Given the description of an element on the screen output the (x, y) to click on. 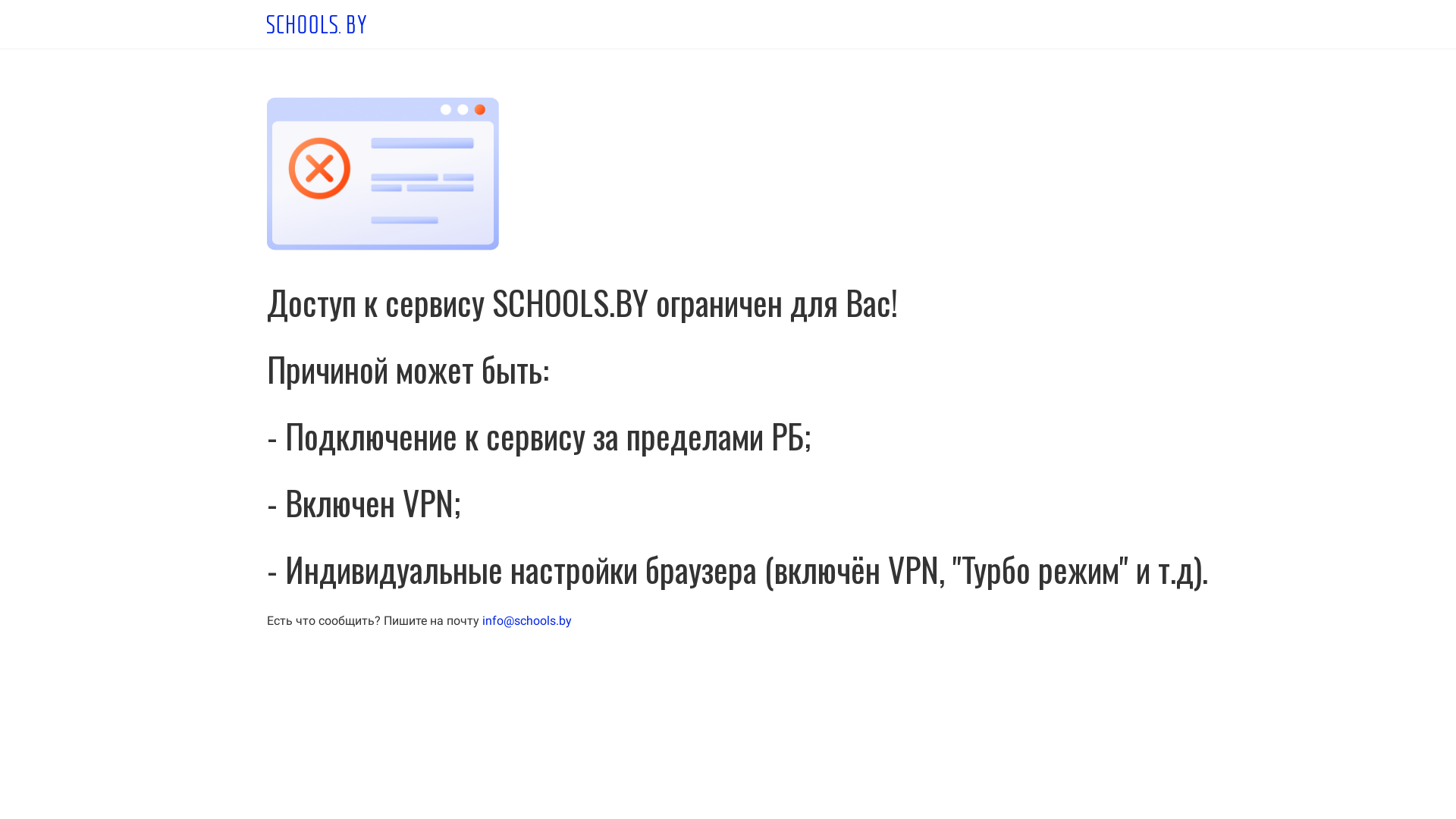
info@schools.by Element type: text (526, 620)
